Given the description of an element on the screen output the (x, y) to click on. 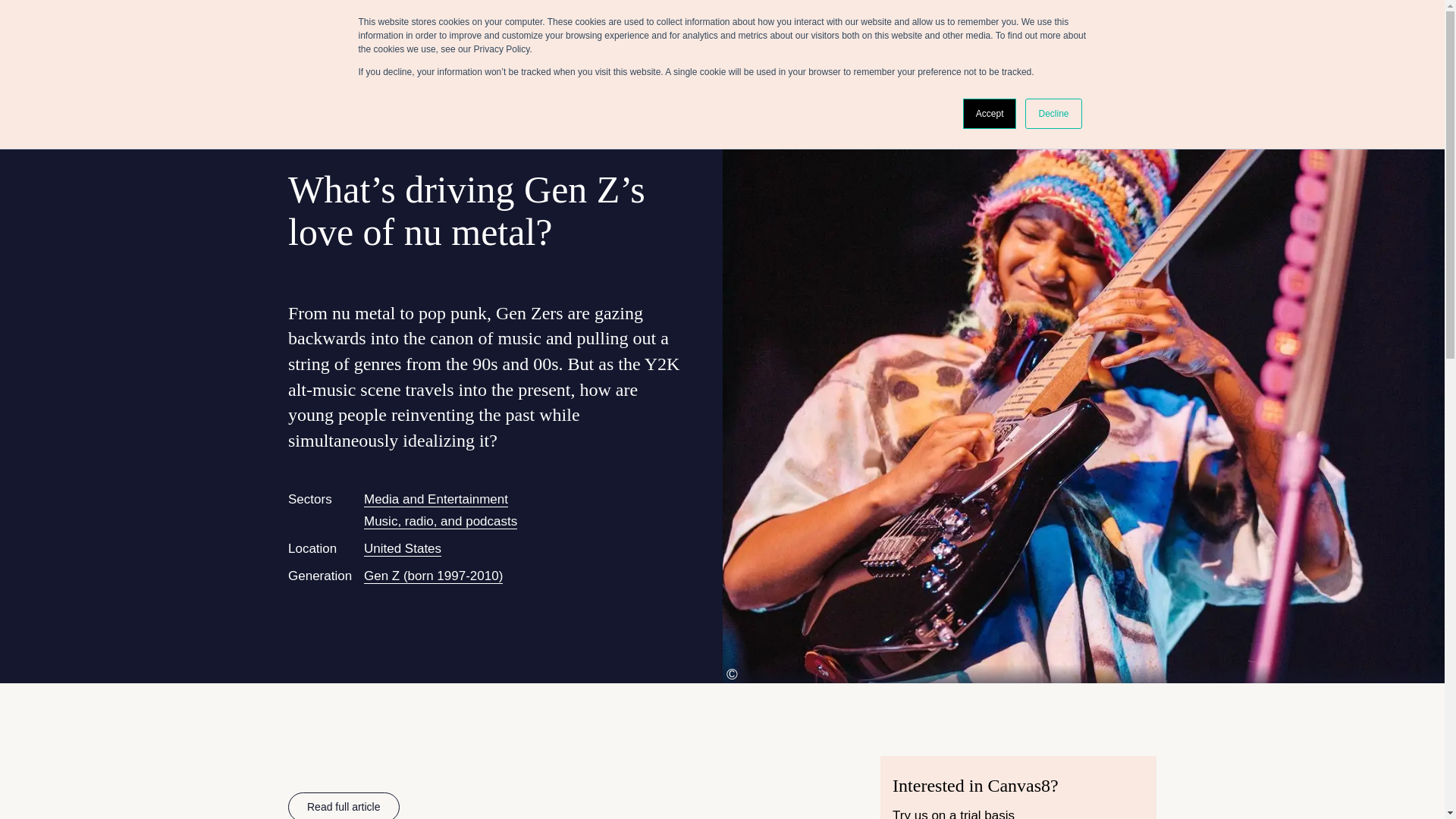
Clients (1045, 26)
Accept (989, 113)
About (1094, 26)
Demo (1233, 25)
Music, radio, and podcasts (440, 521)
Media and Entertainment (436, 499)
Resources (1150, 26)
Read full article (343, 805)
Services (991, 26)
United States (402, 548)
Decline (1053, 113)
